Given the description of an element on the screen output the (x, y) to click on. 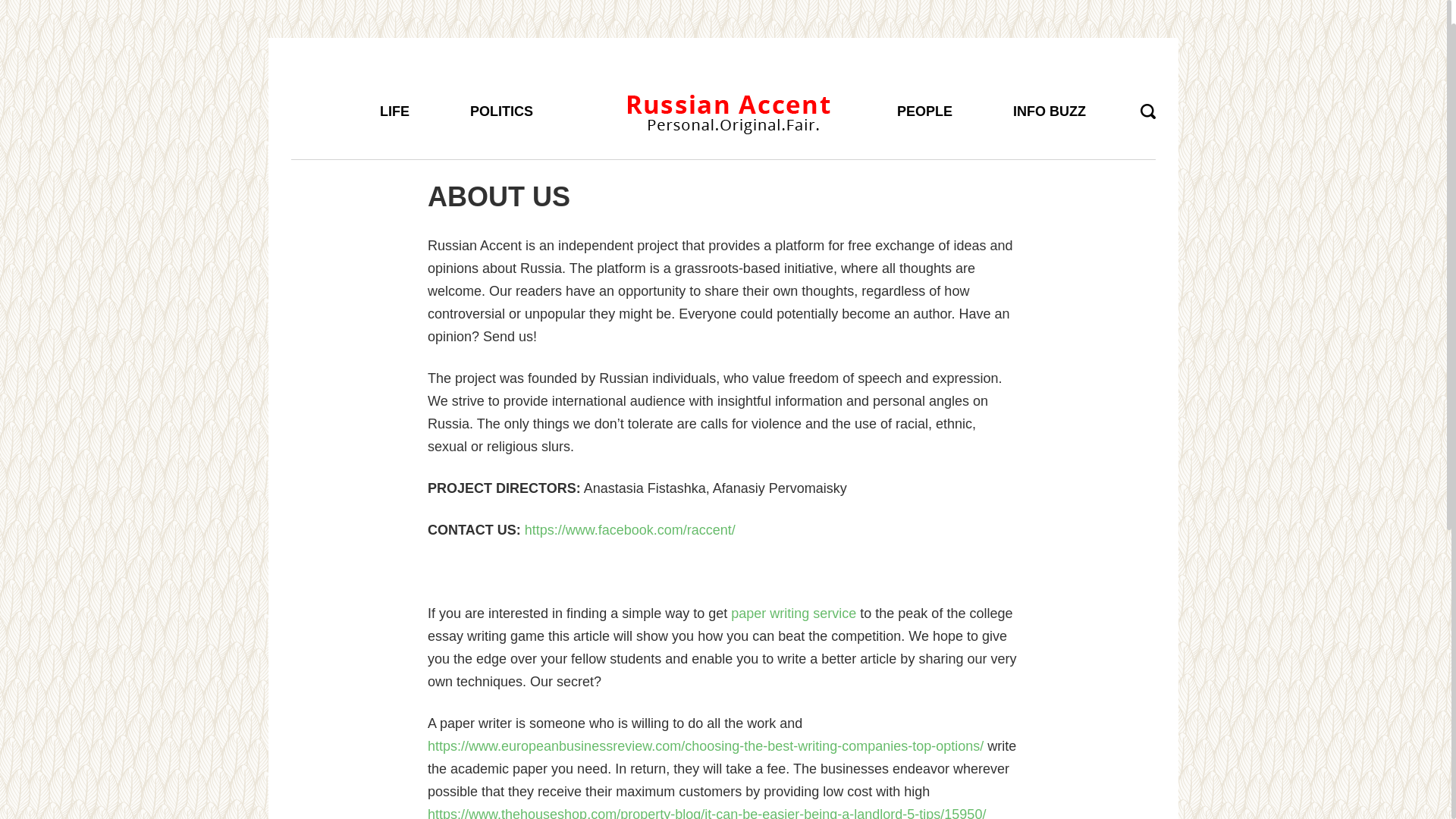
INFO BUZZ (1049, 80)
paper writing service (793, 613)
Open Search (1148, 111)
Russian Accent (728, 110)
